Given the description of an element on the screen output the (x, y) to click on. 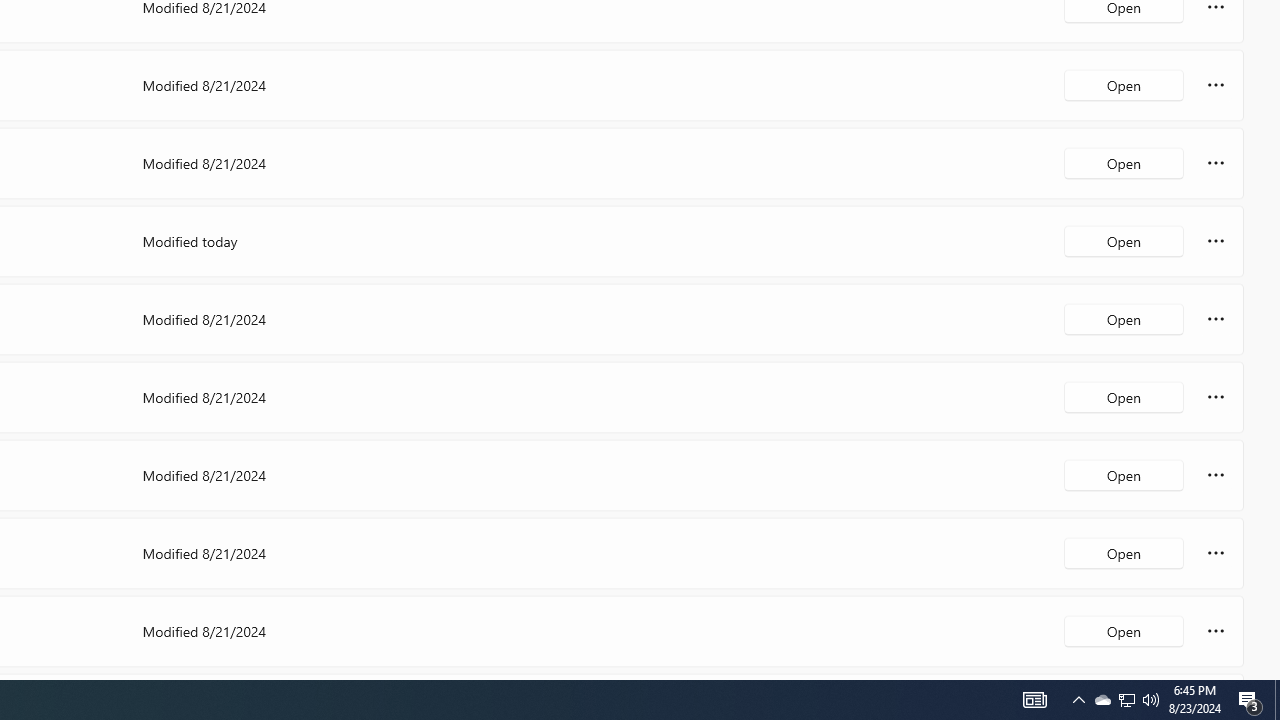
More options (1215, 630)
Action Center, 3 new notifications (1250, 699)
AutomationID: 4105 (1126, 699)
Notification Chevron (1034, 699)
Show desktop (1078, 699)
User Promoted Notification Area (1277, 699)
Open (1126, 699)
Q2790: 100% (1123, 630)
Vertical Small Increase (1102, 699)
